Given the description of an element on the screen output the (x, y) to click on. 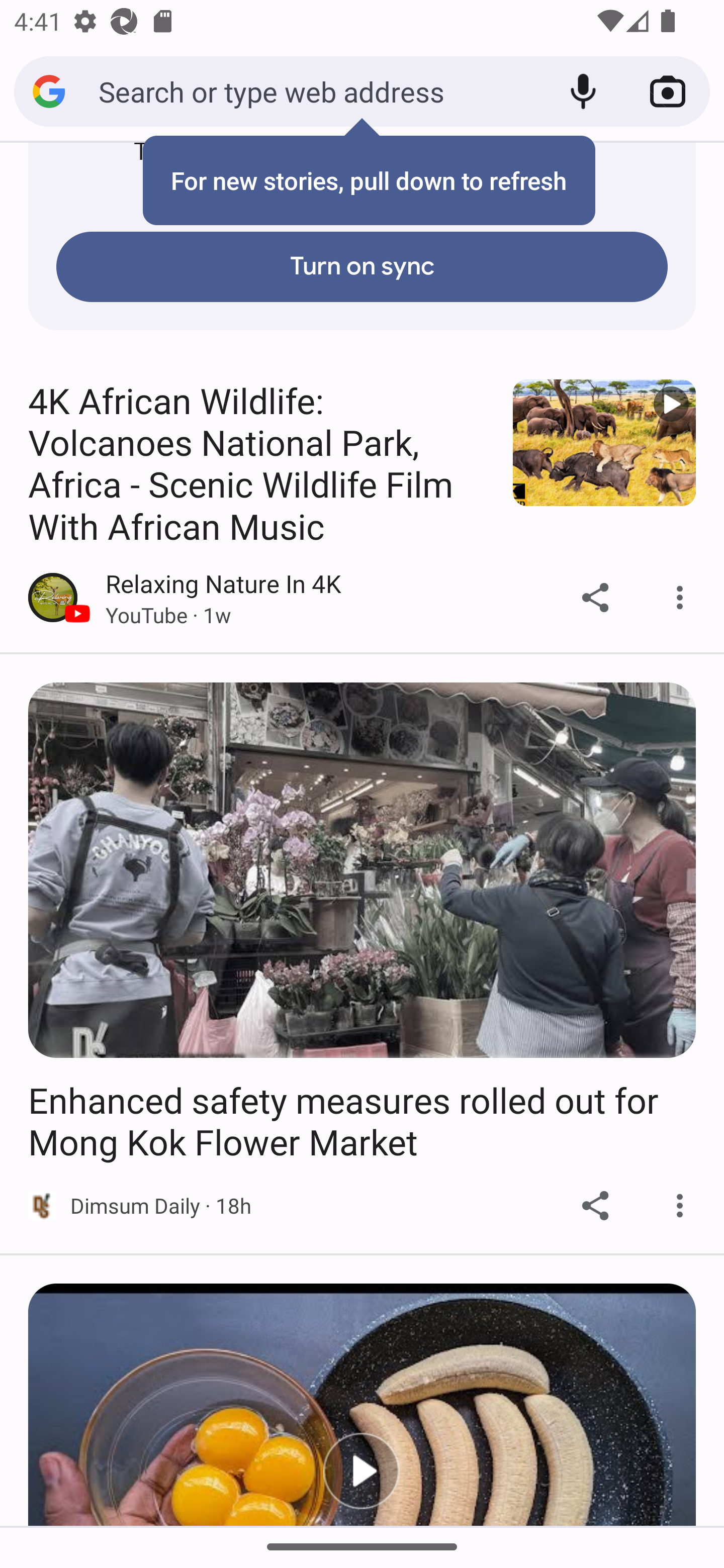
Start voice search (582, 91)
Search with your camera using Google Lens (667, 91)
Search or type web address (319, 90)
Turn on sync (361, 266)
